Given the description of an element on the screen output the (x, y) to click on. 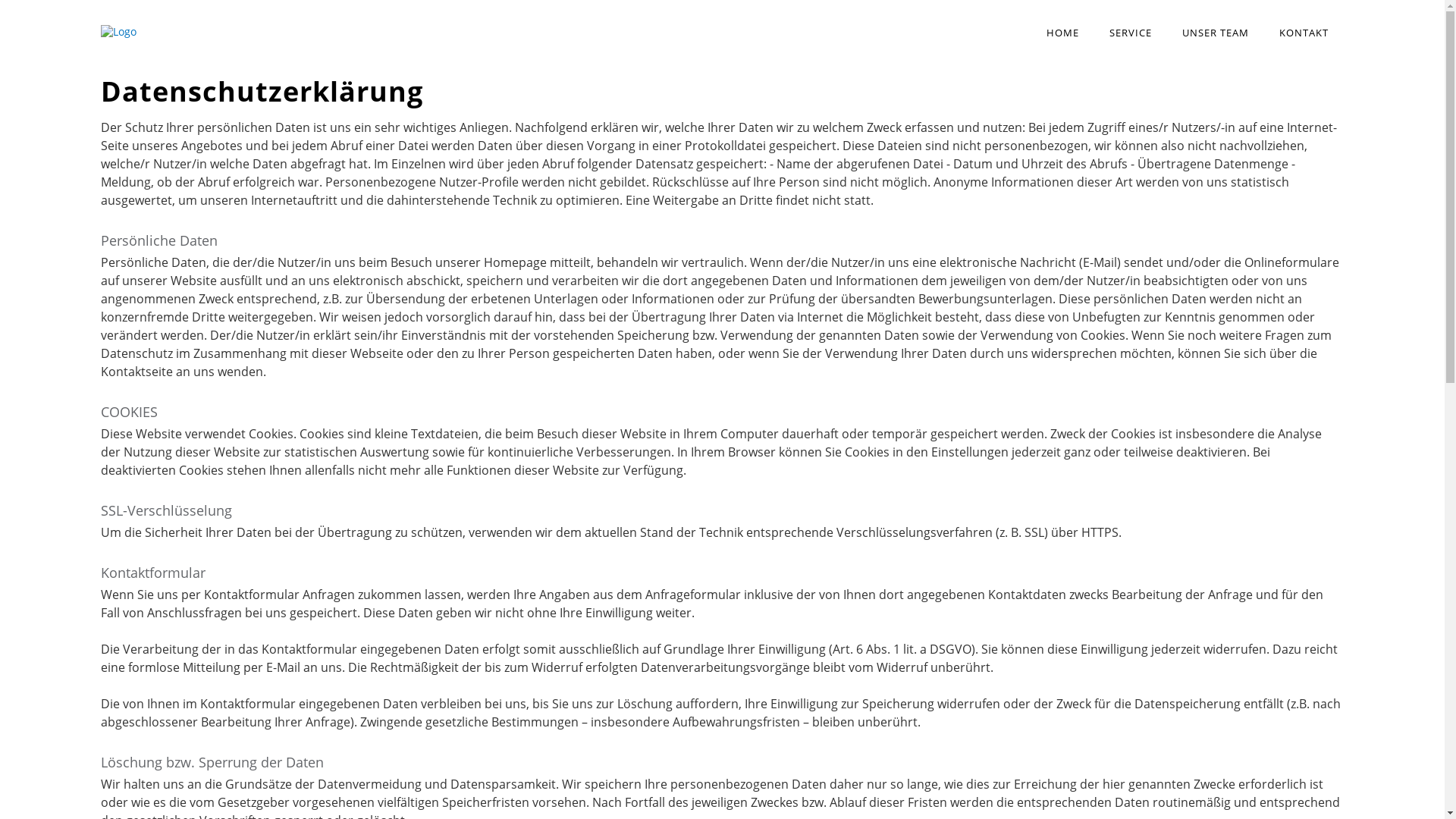
UNSER TEAM Element type: text (1215, 32)
HOME Element type: text (1062, 32)
KONTAKT Element type: text (1303, 32)
SERVICE Element type: text (1130, 32)
